Given the description of an element on the screen output the (x, y) to click on. 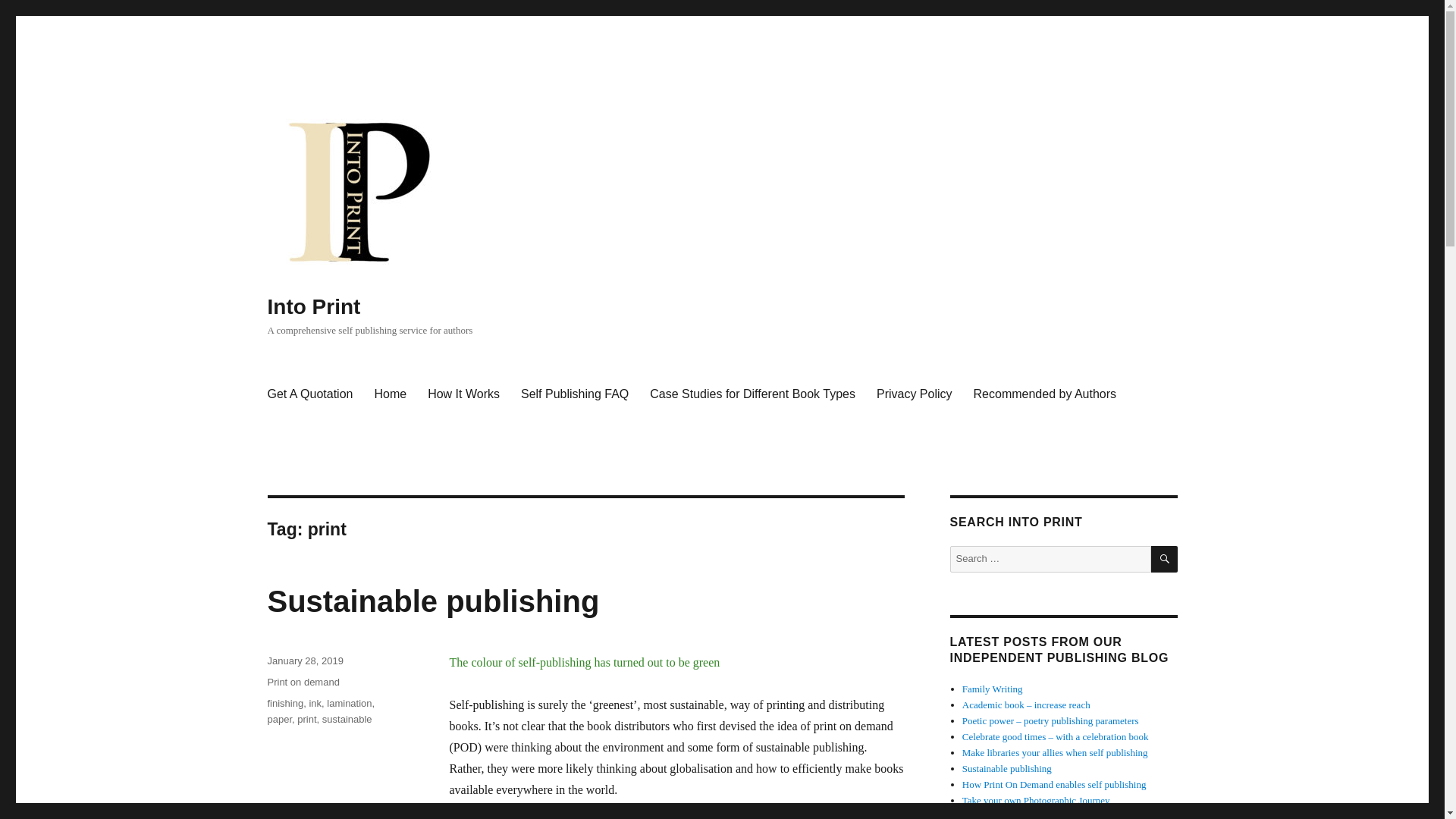
Home (389, 394)
print (306, 718)
Sustainable publishing (432, 601)
Get A Quotation (309, 394)
Into Print (312, 306)
Print on demand (302, 681)
paper (279, 718)
Self Publishing FAQ (575, 394)
Recommended by Authors (1044, 394)
lamination (348, 703)
Family Writing (992, 688)
ink (314, 703)
How It Works (463, 394)
Privacy Policy (914, 394)
January 28, 2019 (304, 660)
